Given the description of an element on the screen output the (x, y) to click on. 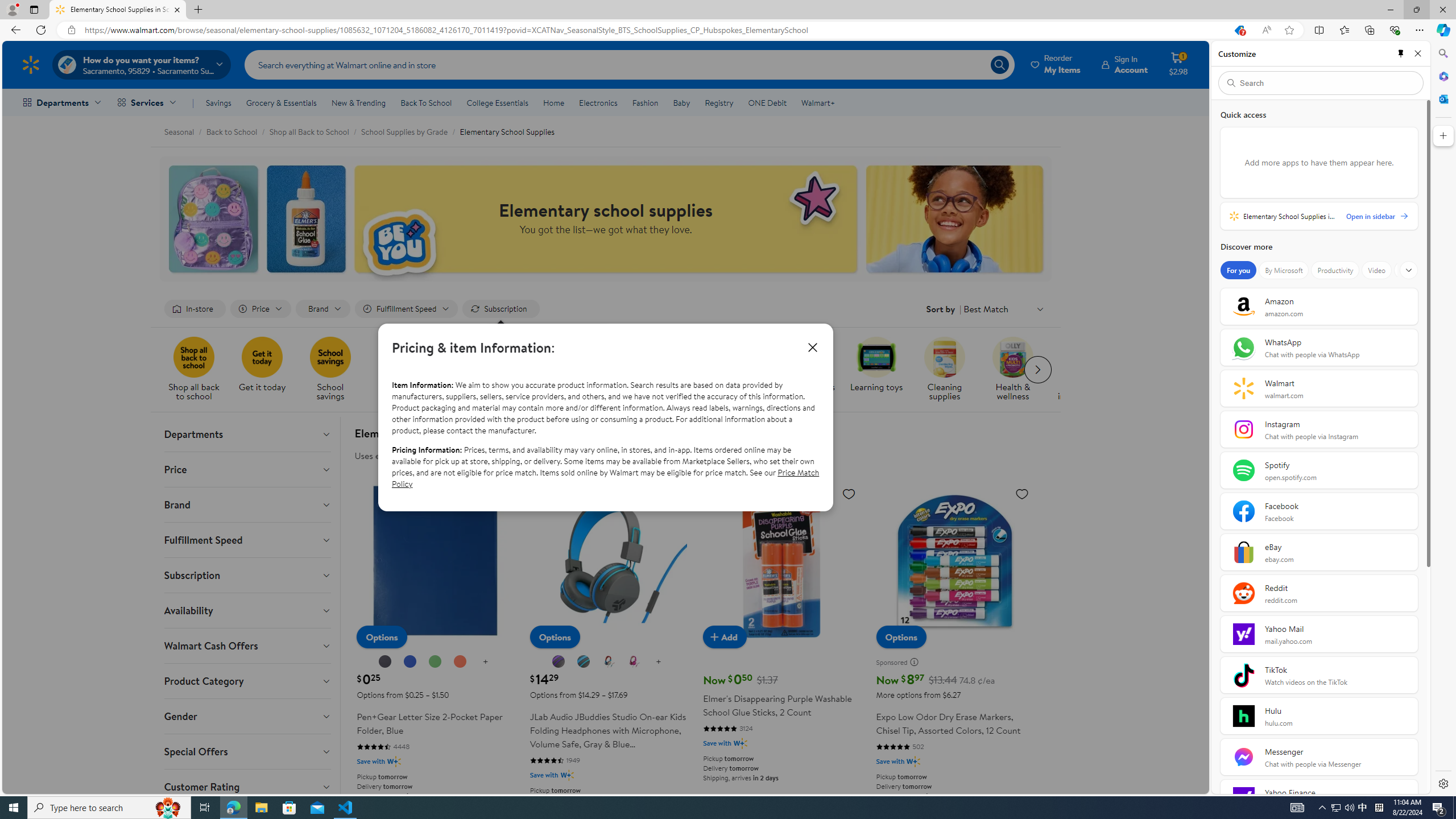
By Microsoft (1282, 270)
Productivity (1334, 270)
This site has coupons! Shopping in Microsoft Edge, 7 (1239, 29)
